Given the description of an element on the screen output the (x, y) to click on. 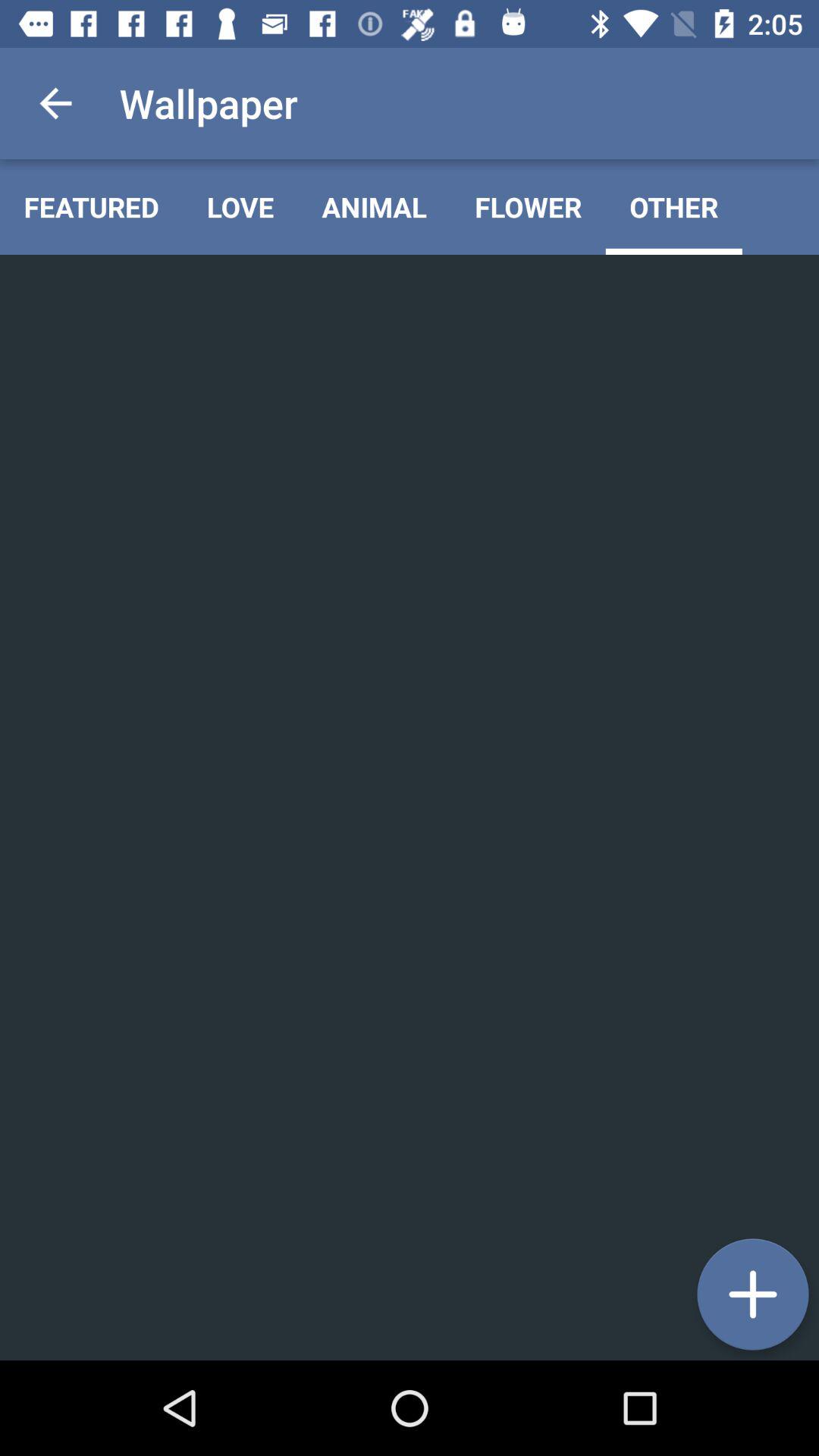
open the icon at the bottom right corner (752, 1294)
